Given the description of an element on the screen output the (x, y) to click on. 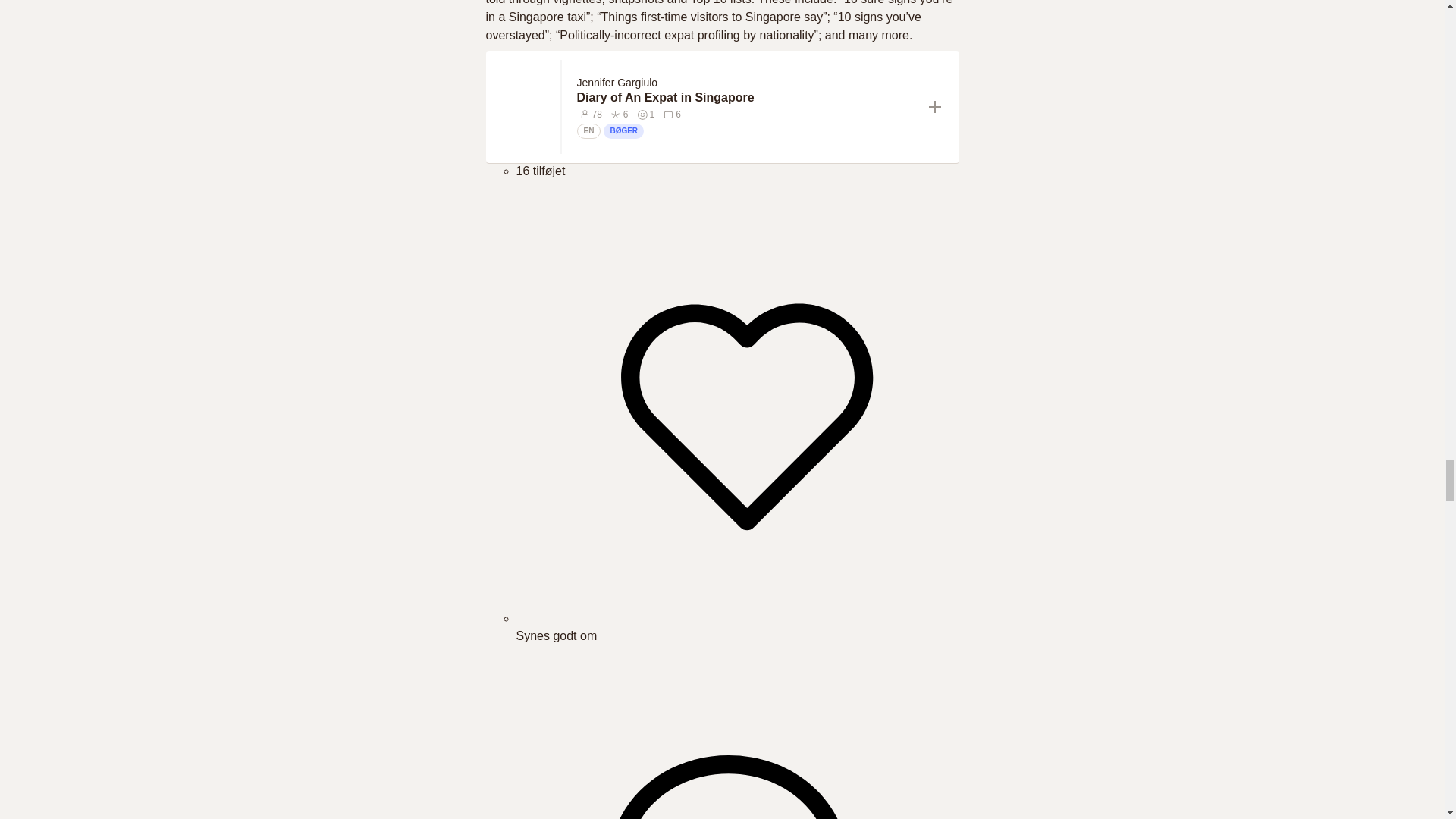
Diary of An Expat in Singapore (745, 97)
Jennifer Gargiulo (617, 82)
